Given the description of an element on the screen output the (x, y) to click on. 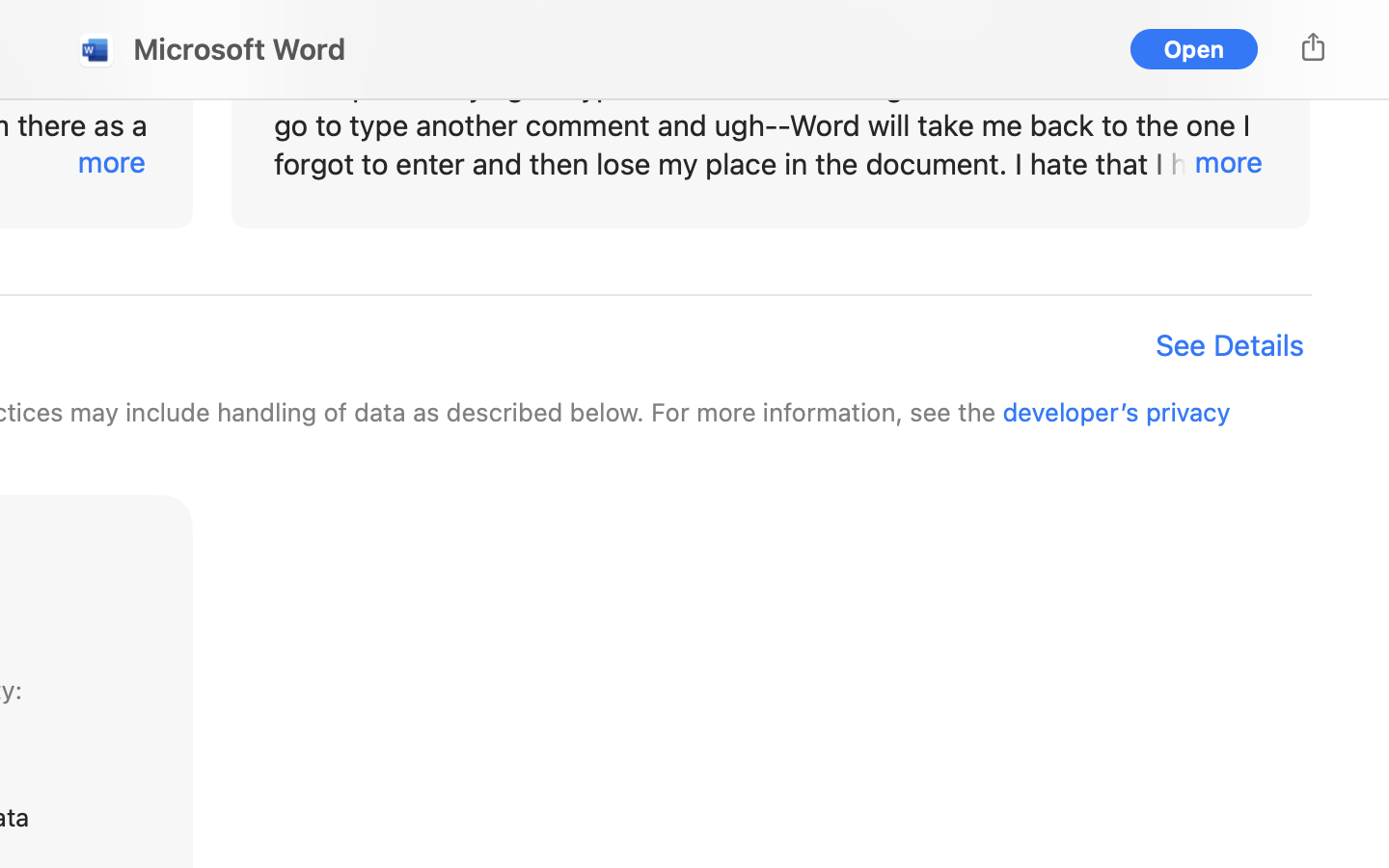
Microsoft Word Element type: AXStaticText (240, 48)
